Given the description of an element on the screen output the (x, y) to click on. 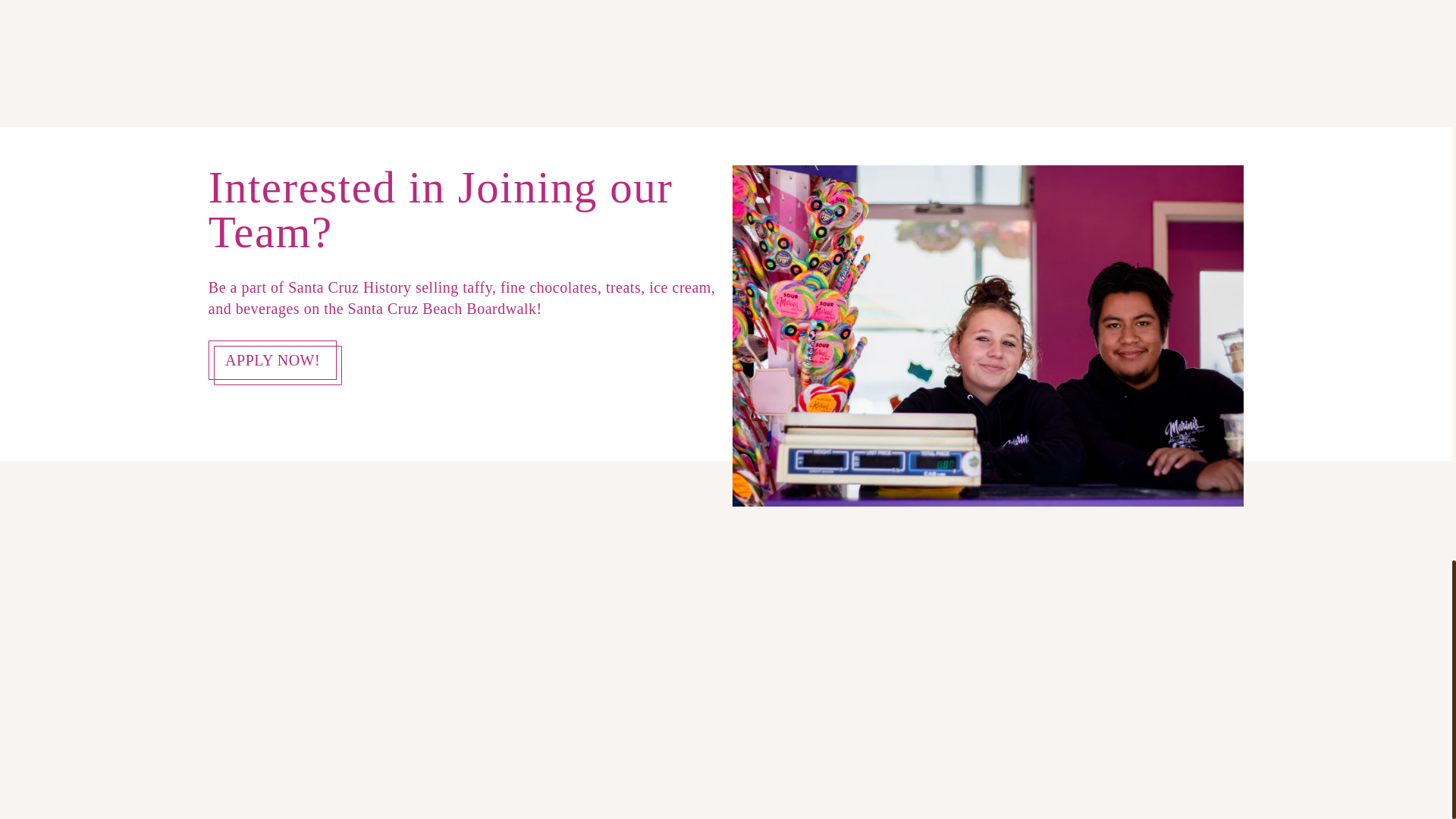
APPLY NOW! (272, 360)
